Given the description of an element on the screen output the (x, y) to click on. 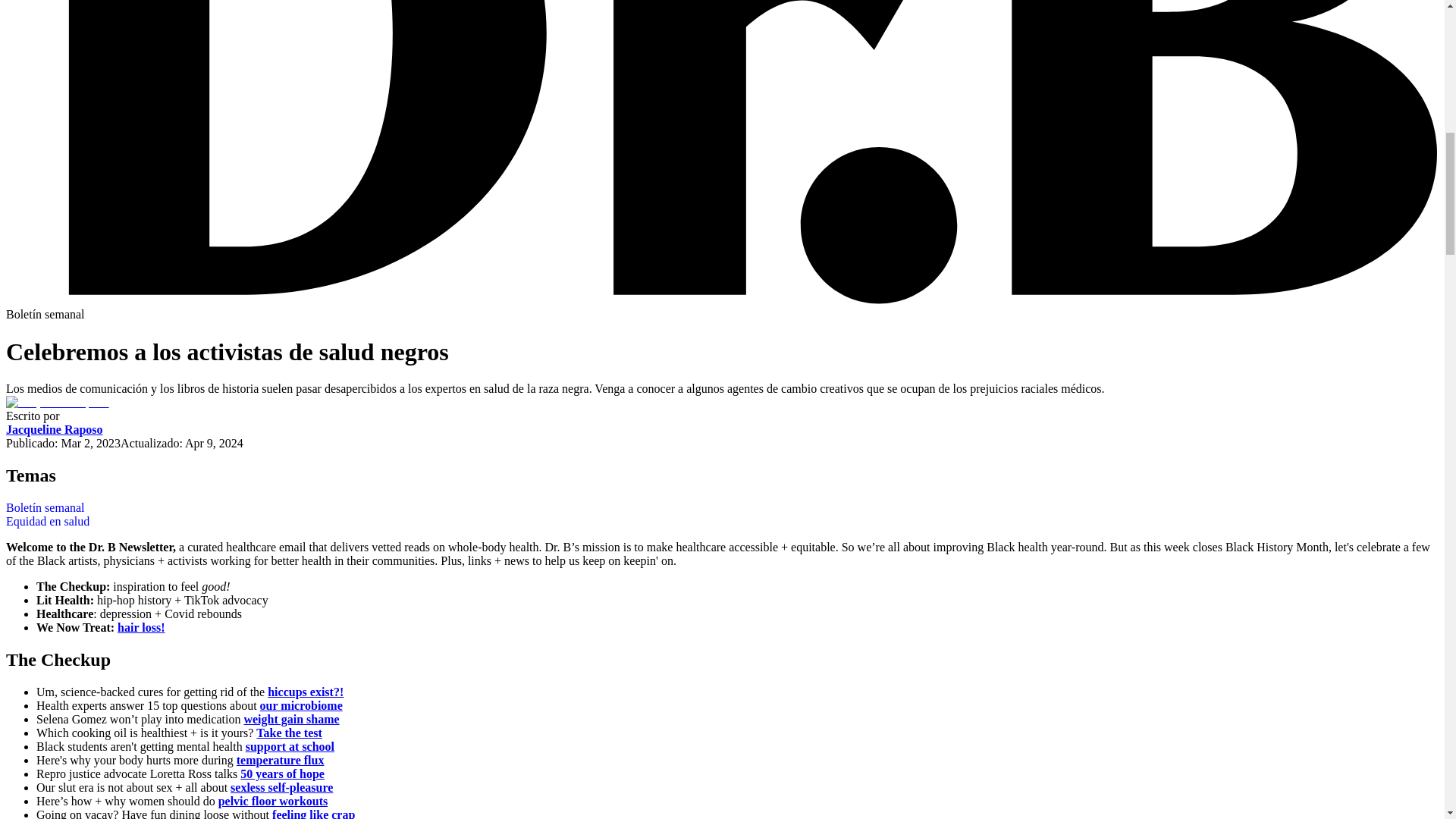
Take the test (288, 732)
Jacqueline Raposo (54, 429)
temperature flux (279, 759)
support at school (290, 746)
our microbiome (301, 705)
hiccups exist?! (305, 691)
pelvic floor workouts (273, 800)
hair loss! (140, 626)
weight gain shame (291, 718)
feeling like crap (313, 813)
sexless self-pleasure (281, 787)
50 years of hope (282, 773)
